Given the description of an element on the screen output the (x, y) to click on. 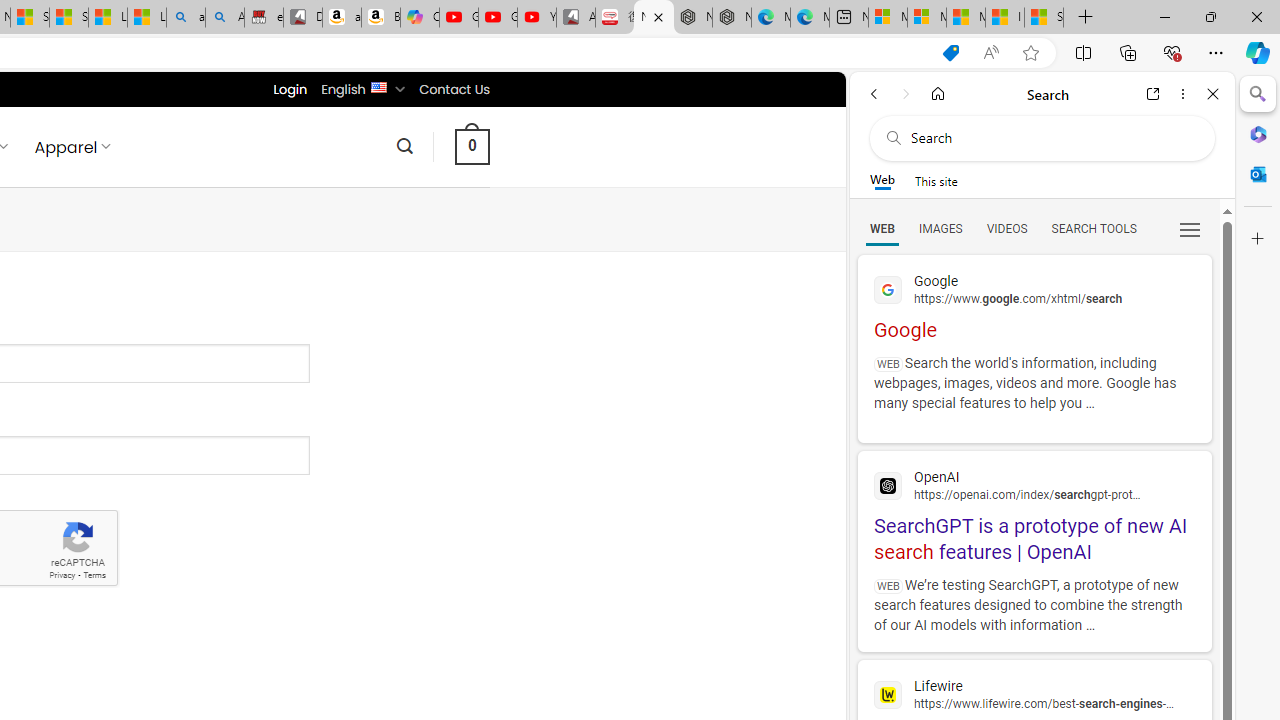
YouTube Kids - An App Created for Kids to Explore Content (536, 17)
Home (938, 93)
Search Filter, Search Tools (1093, 228)
Nordace - Nordace has arrived Hong Kong (732, 17)
Copilot (419, 17)
Web scope (882, 180)
Gloom - YouTube (497, 17)
Login (290, 89)
Privacy (62, 575)
Microsoft account | Privacy (926, 17)
IMAGES (939, 228)
Search Filter, VIDEOS (1006, 228)
